Given the description of an element on the screen output the (x, y) to click on. 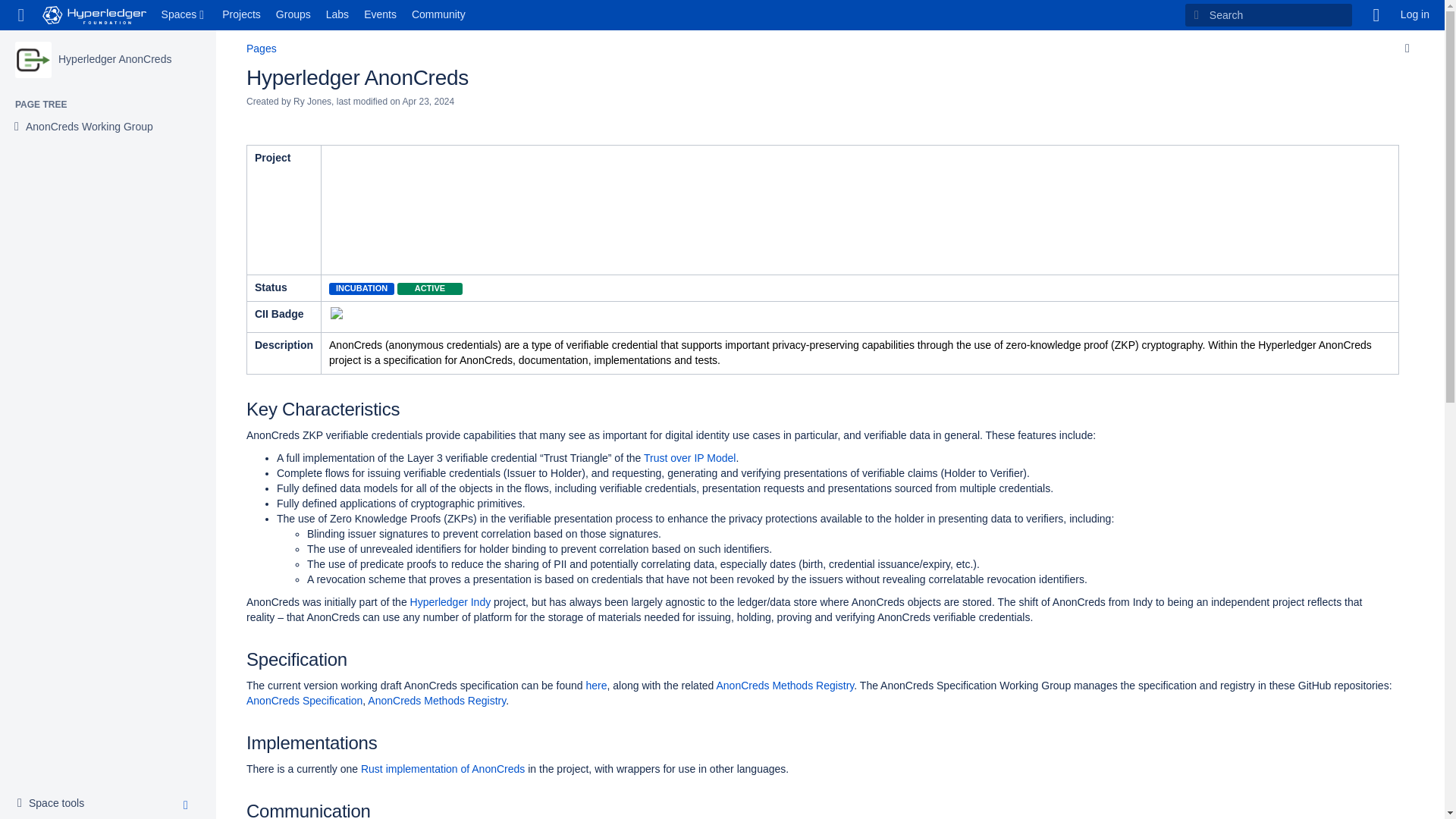
Hyperledger AnonCreds (114, 59)
Labs (337, 15)
Help (1376, 15)
Hyperledger AnonCreds (114, 59)
Log in (1415, 15)
Pages (261, 48)
Help (1376, 15)
Spaces (184, 15)
Hyperledger AnonCreds (32, 59)
Projects (54, 803)
Groups (240, 15)
AnonCreds Working Group (292, 15)
Spaces (89, 127)
Community (184, 15)
